Given the description of an element on the screen output the (x, y) to click on. 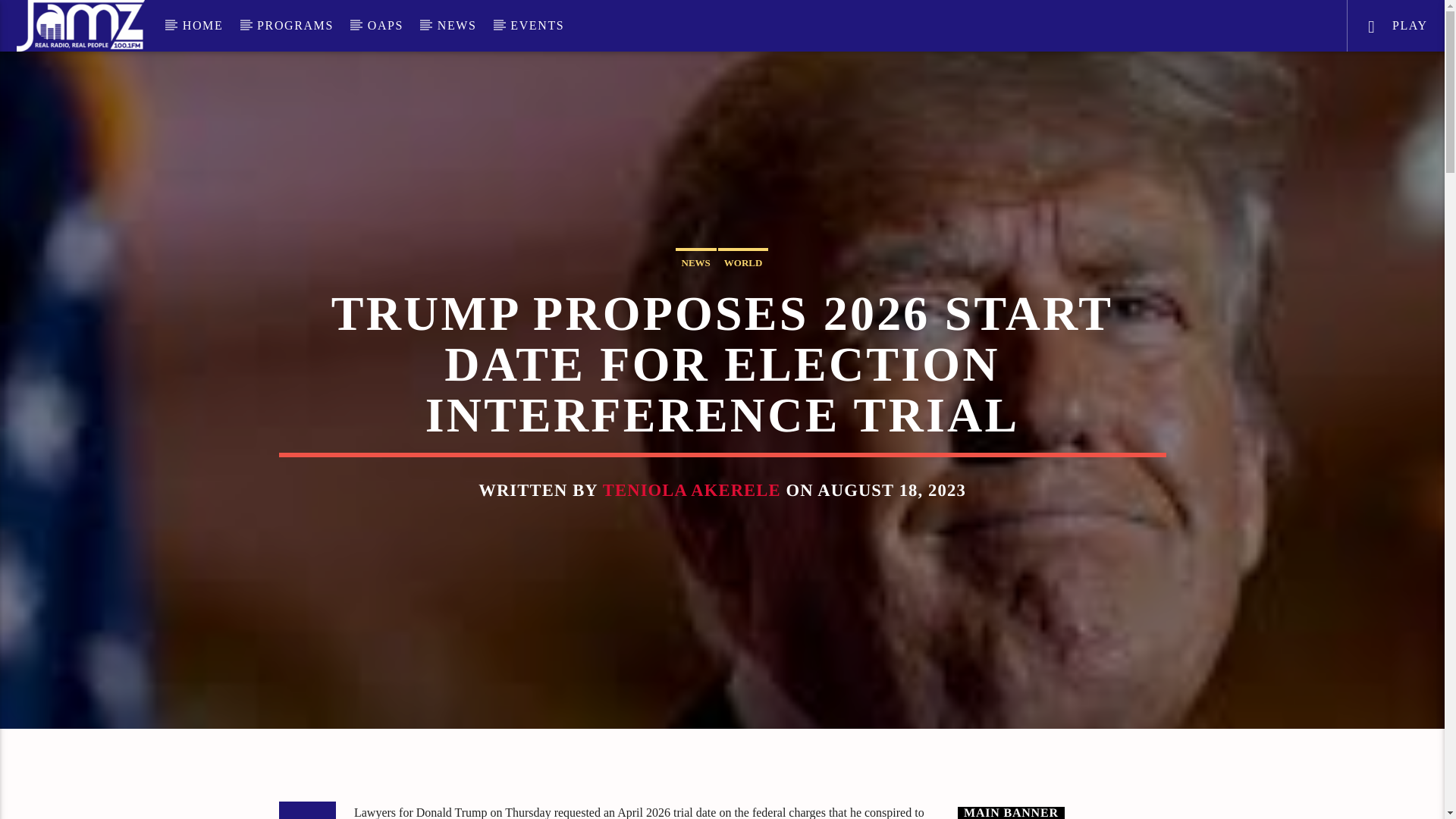
EVENTS (536, 25)
NEWS (695, 261)
Search (1203, 75)
WORLD (742, 261)
Posts by Teniola Akerele (691, 489)
HOME (202, 25)
OAPS (385, 25)
PROGRAMS (295, 25)
TENIOLA AKERELE (691, 489)
NEWS (456, 25)
